Given the description of an element on the screen output the (x, y) to click on. 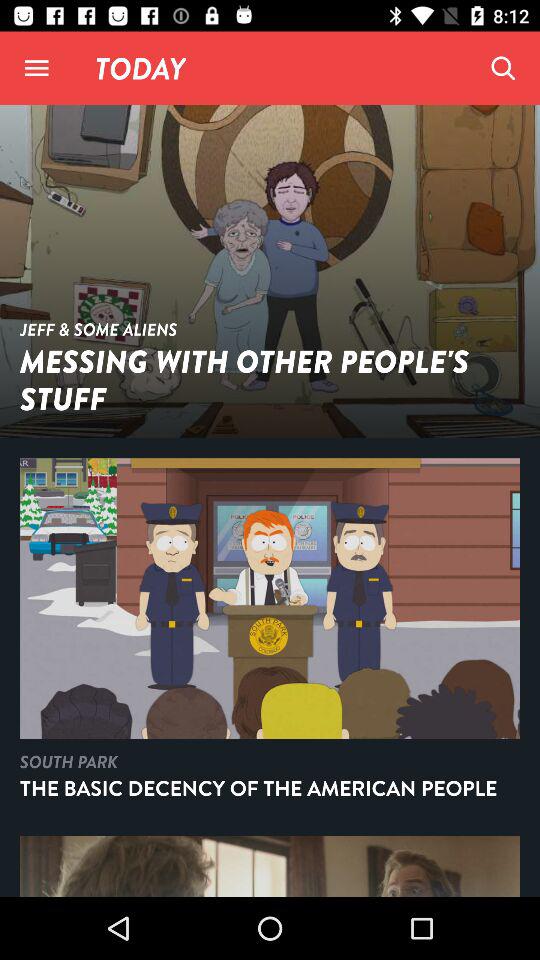
open menu (36, 68)
